Given the description of an element on the screen output the (x, y) to click on. 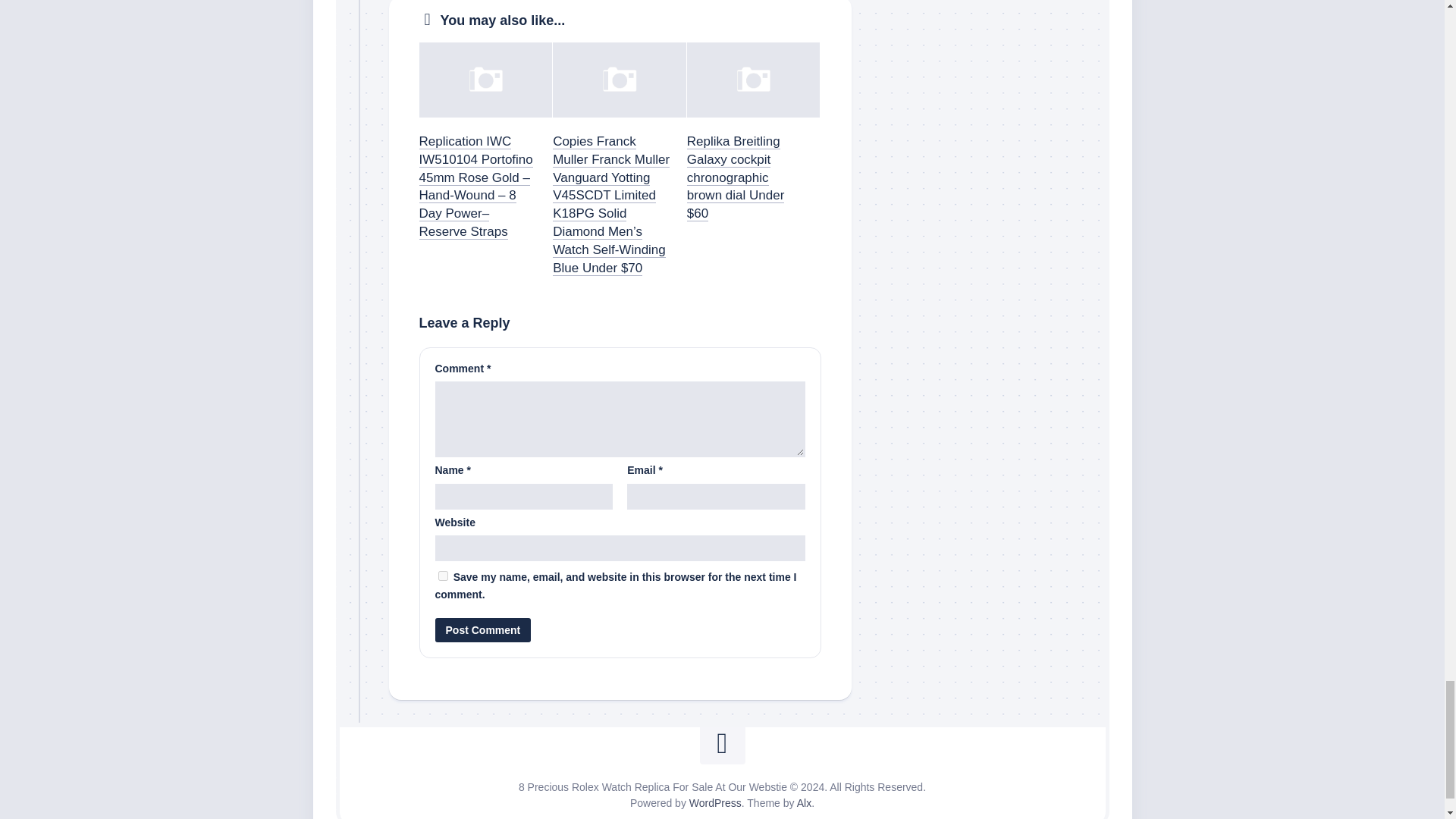
Post Comment (483, 630)
yes (443, 575)
Post Comment (483, 630)
